Given the description of an element on the screen output the (x, y) to click on. 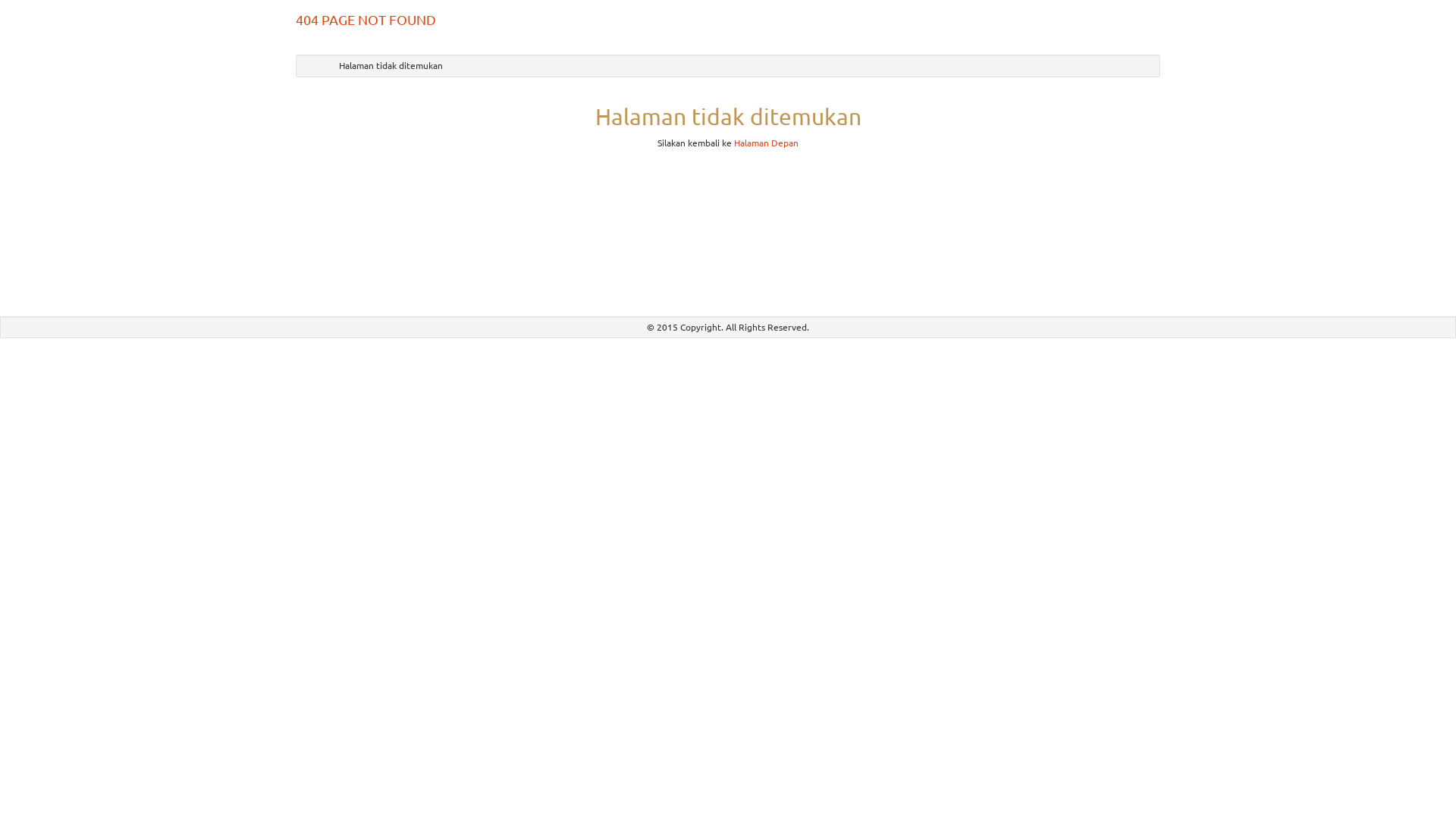
404 PAGE NOT FOUND Element type: text (365, 19)
Halaman Depan Element type: text (766, 142)
